Given the description of an element on the screen output the (x, y) to click on. 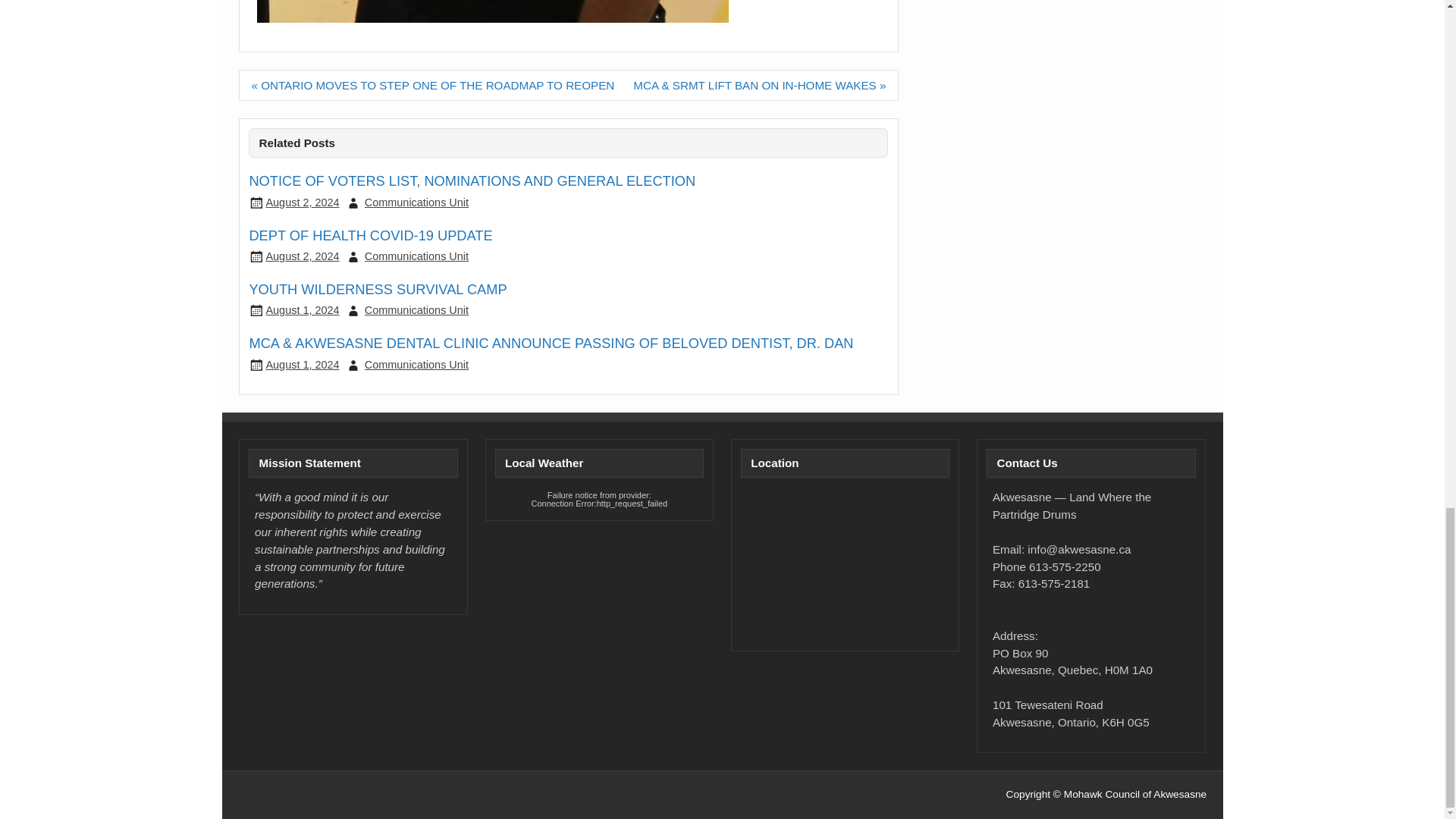
View all posts by Communications Unit (416, 309)
View all posts by Communications Unit (416, 364)
10:39 AM (301, 256)
10:17 AM (301, 364)
5:52 PM (301, 202)
View all posts by Communications Unit (416, 256)
View all posts by Communications Unit (416, 202)
3:45 PM (301, 309)
